Given the description of an element on the screen output the (x, y) to click on. 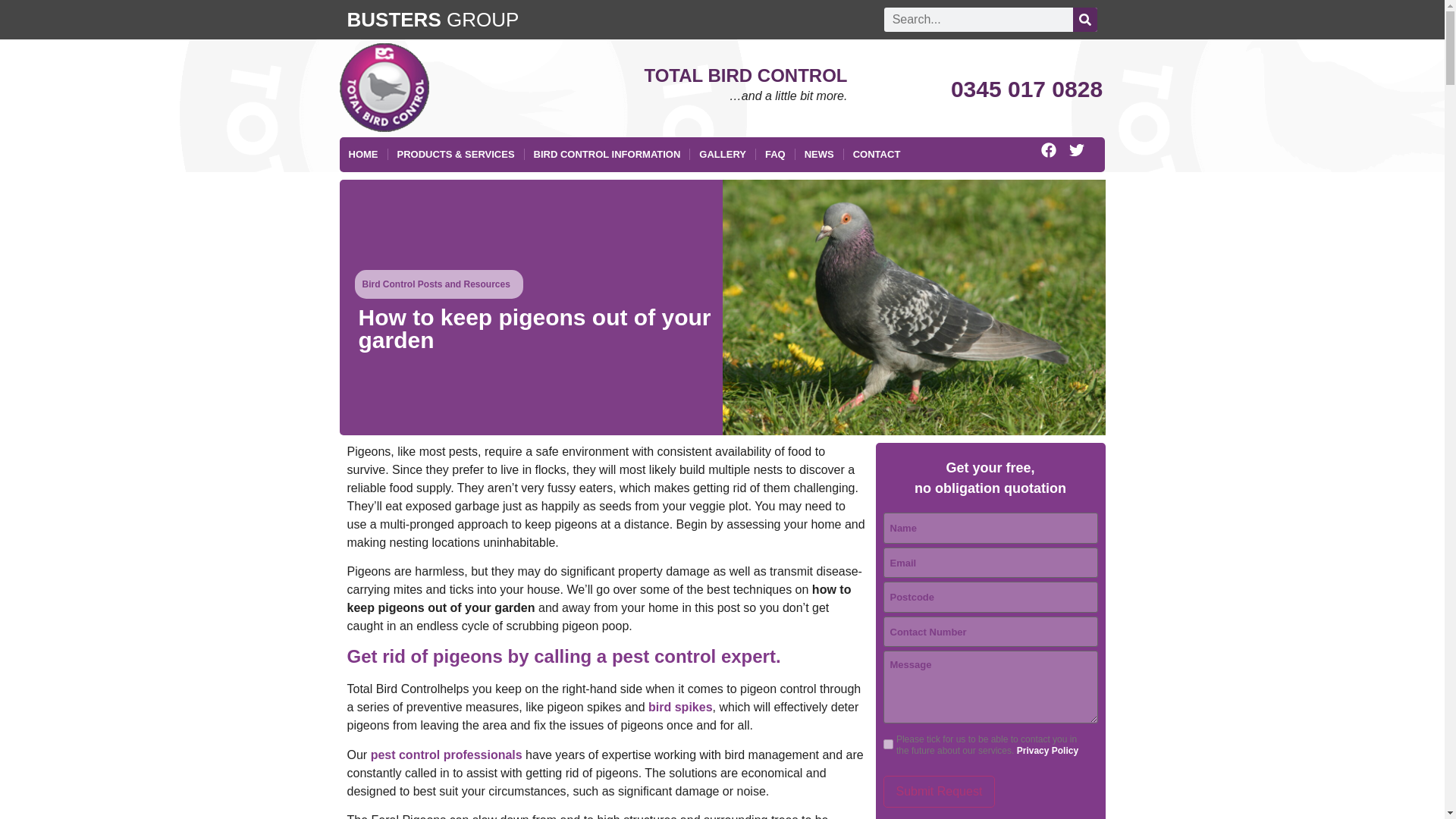
FAQ (774, 154)
GALLERY (722, 154)
HOME (363, 154)
Submit Request (938, 791)
NEWS (818, 154)
BIRD CONTROL INFORMATION (607, 154)
0345 017 0828 (1026, 88)
CONTACT (877, 154)
